Given the description of an element on the screen output the (x, y) to click on. 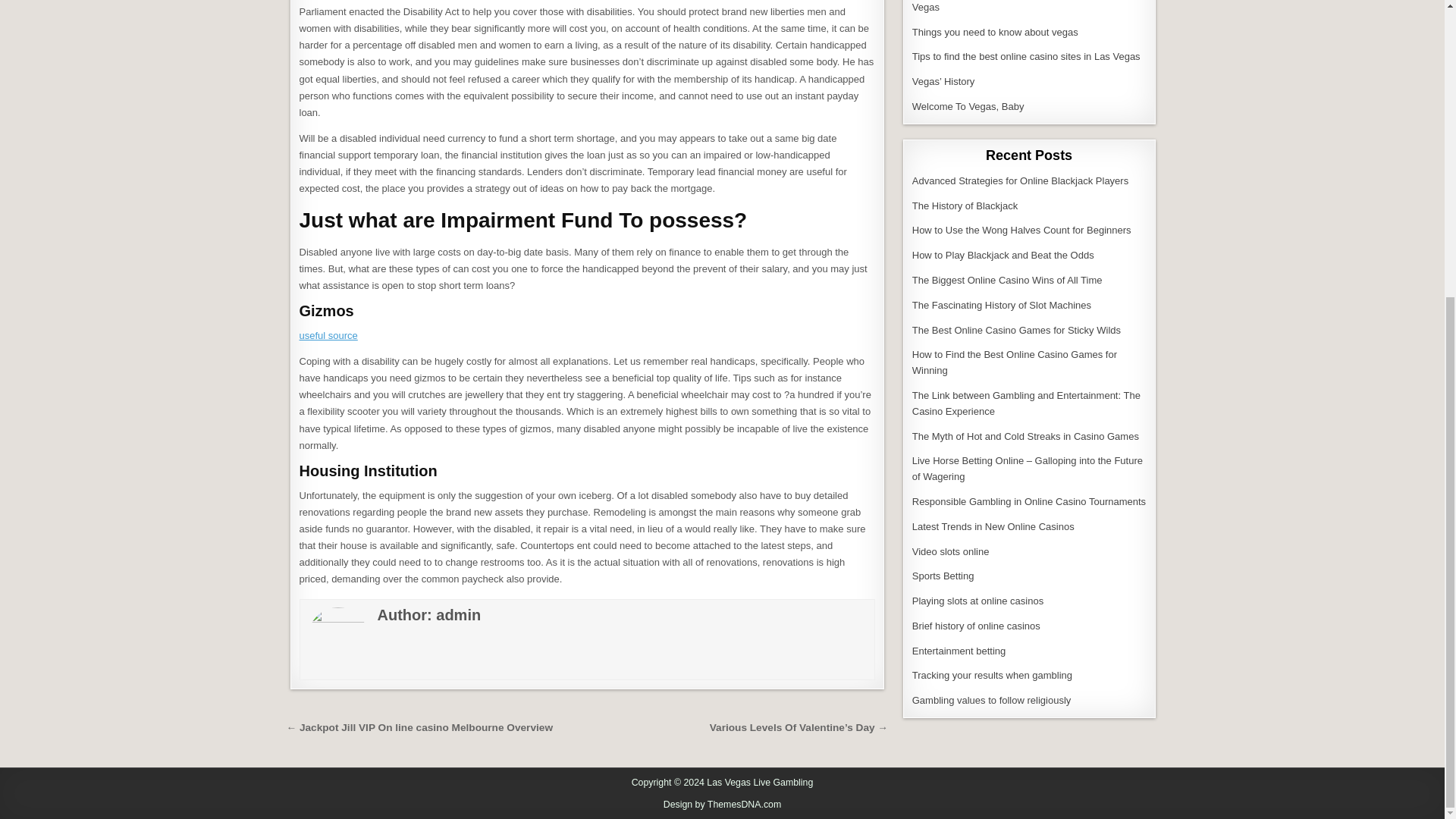
Tips to find the best online casino sites in Las Vegas (1026, 56)
How to Play Blackjack and Beat the Odds (1003, 255)
Things you need to know about vegas (995, 31)
Advanced Strategies for Online Blackjack Players (1020, 180)
The popularity and rise of online gambling in Las Vegas (1018, 6)
useful source (327, 335)
Welcome To Vegas, Baby (968, 106)
How to Use the Wong Halves Count for Beginners (1021, 229)
The History of Blackjack (964, 205)
admin (457, 614)
